Given the description of an element on the screen output the (x, y) to click on. 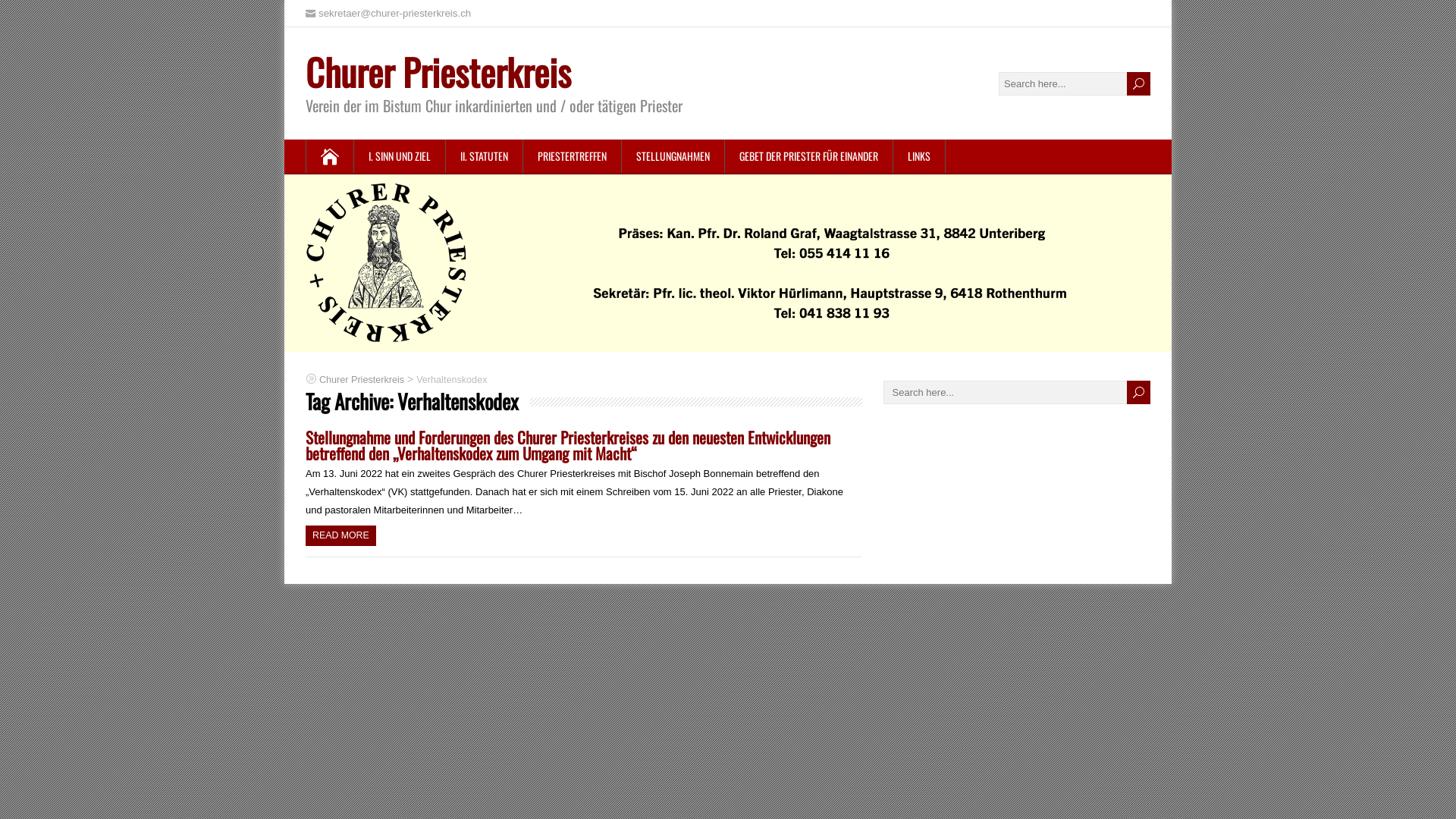
II. STATUTEN Element type: text (484, 155)
LINKS Element type: text (919, 155)
U Element type: text (1138, 392)
STELLUNGNAHMEN Element type: text (672, 155)
PRIESTERTREFFEN Element type: text (572, 155)
Churer Priesterkreis Element type: text (361, 379)
I. SINN UND ZIEL Element type: text (399, 155)
READ MORE Element type: text (340, 535)
U Element type: text (1138, 83)
Churer Priesterkreis Element type: text (438, 71)
